Given the description of an element on the screen output the (x, y) to click on. 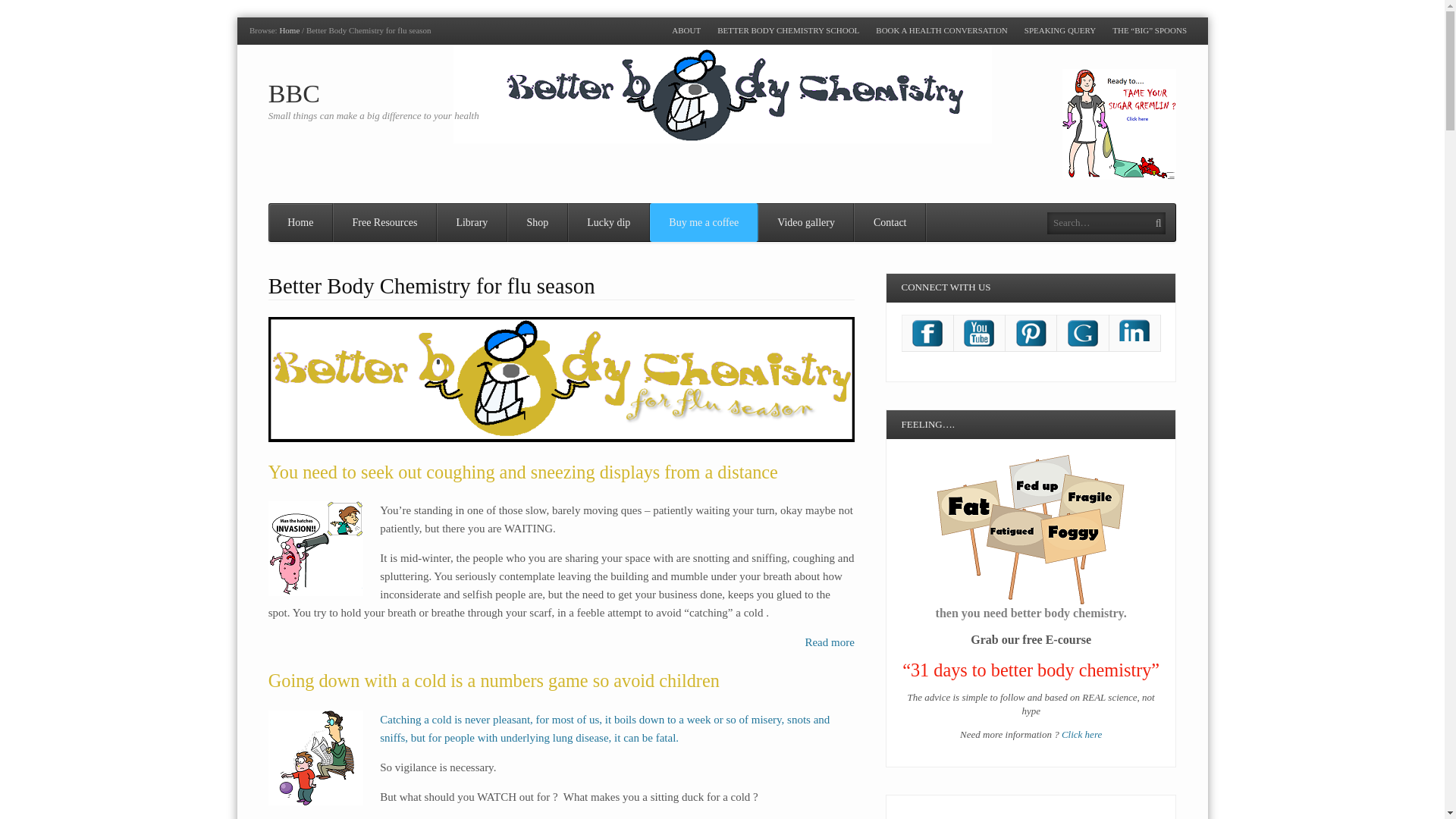
Library (471, 221)
BBC (289, 30)
Video gallery (806, 221)
Free Resources (384, 221)
BBC (293, 93)
Click here to read more (829, 642)
BETTER BODY CHEMISTRY SCHOOL (788, 30)
Home (300, 221)
